Given the description of an element on the screen output the (x, y) to click on. 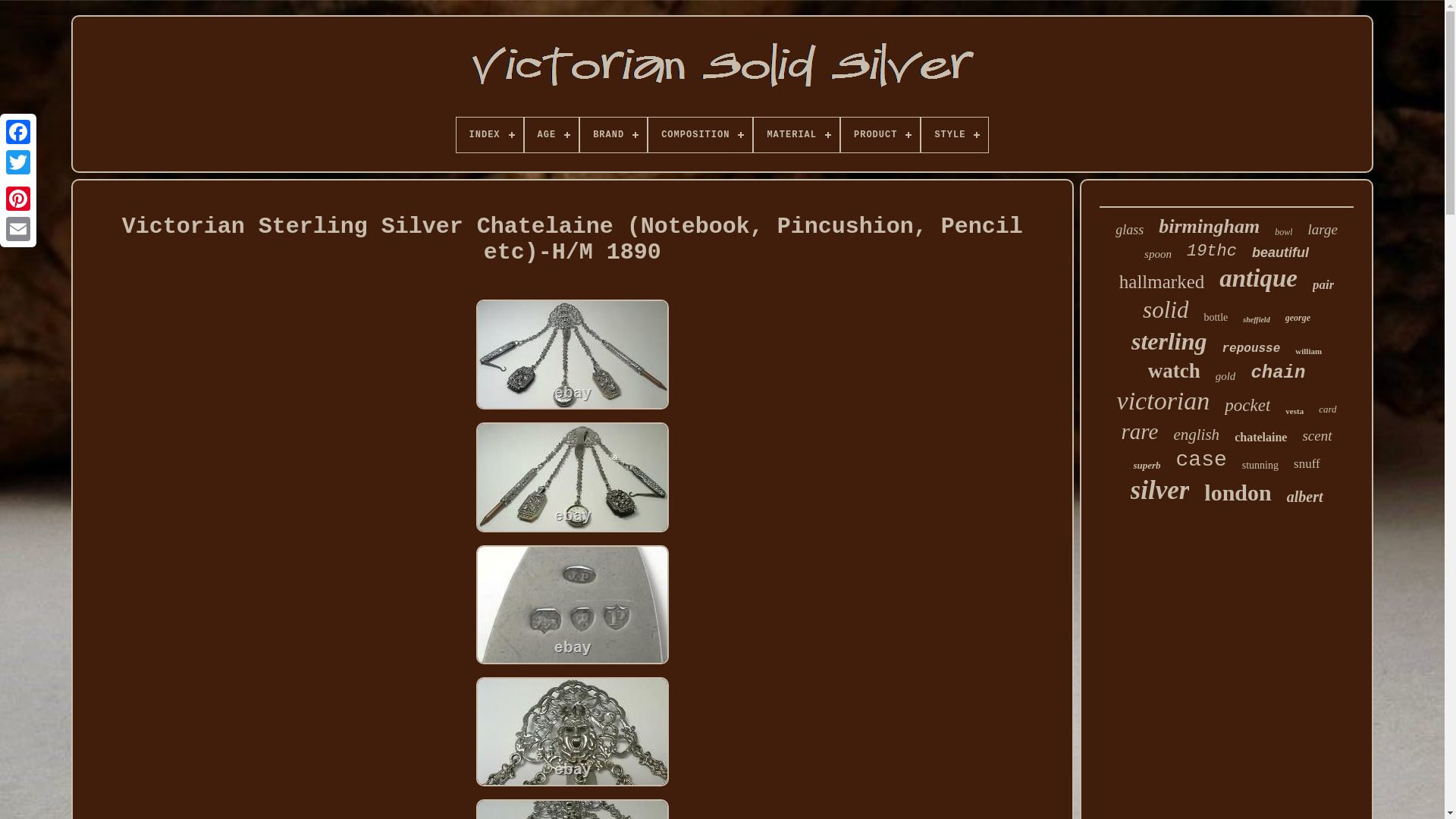
BRAND (612, 134)
INDEX (489, 134)
AGE (551, 134)
Facebook (17, 132)
